Given the description of an element on the screen output the (x, y) to click on. 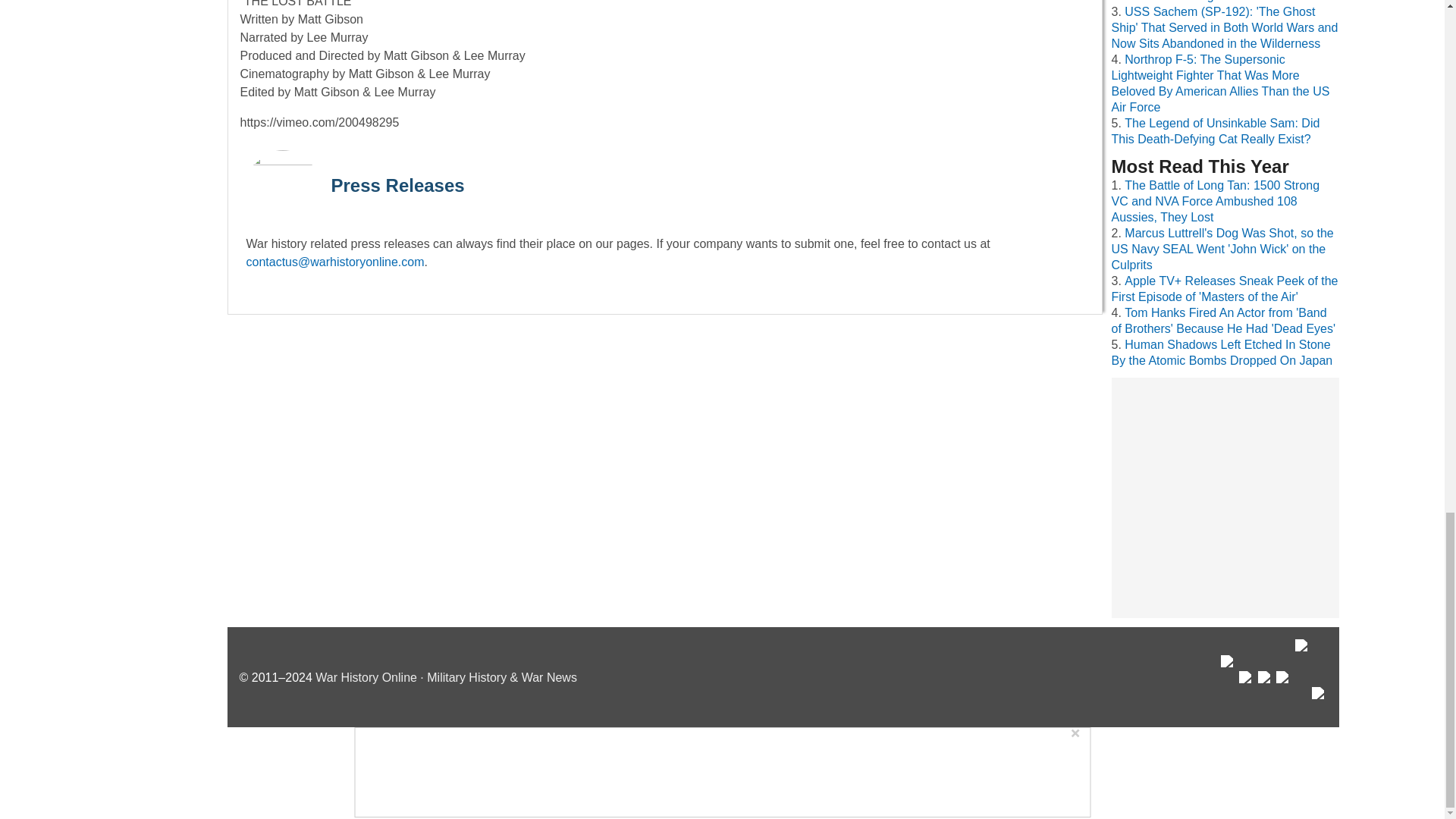
Abandoned Spaces (1264, 692)
Tank Roar (1283, 692)
I Love WWII Planes (1302, 676)
The Vintage News (1228, 684)
Outdoor Revival (1246, 692)
